Given the description of an element on the screen output the (x, y) to click on. 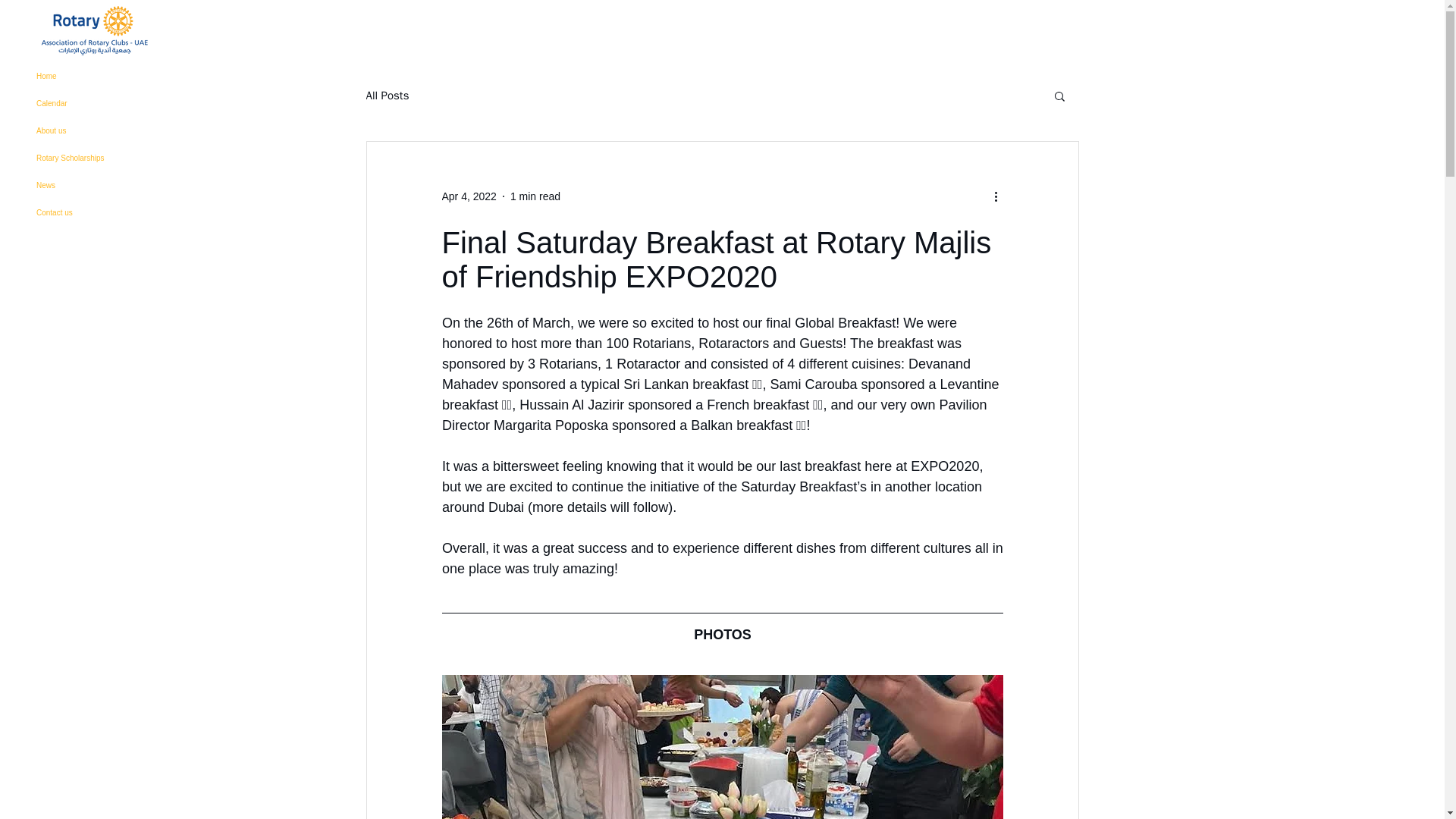
Contact us (109, 212)
1 min read (535, 195)
Calendar (109, 103)
All Posts (387, 94)
Home (109, 76)
About us (109, 130)
News (109, 185)
Apr 4, 2022 (468, 195)
Rotary Scholarships (109, 157)
